Given the description of an element on the screen output the (x, y) to click on. 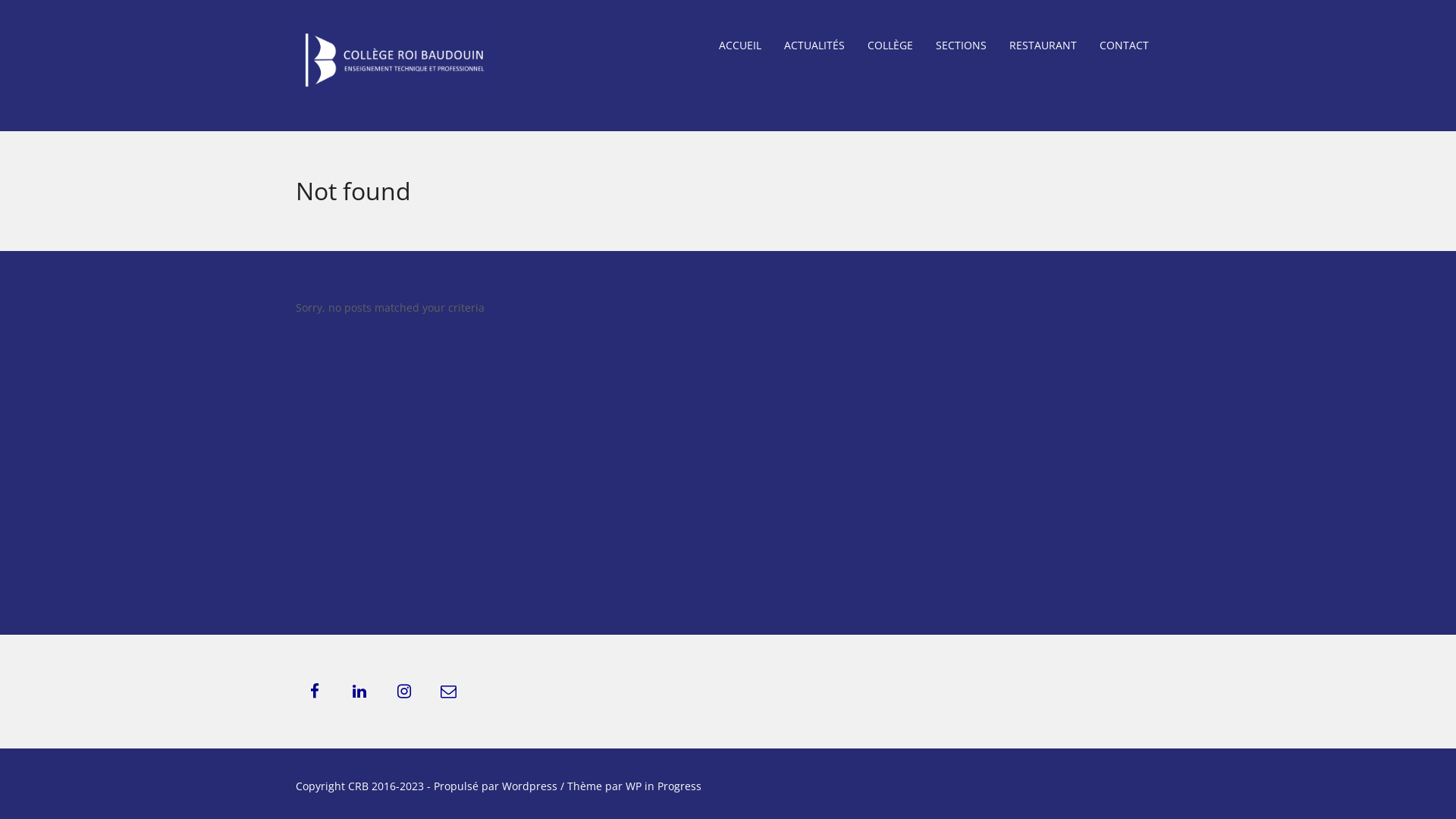
WP in Progress Element type: text (663, 785)
RESTAURANT Element type: text (1042, 45)
ACCUEIL Element type: text (739, 45)
SECTIONS Element type: text (960, 45)
CONTACT Element type: text (1124, 45)
CRB Element type: hover (395, 62)
